Given the description of an element on the screen output the (x, y) to click on. 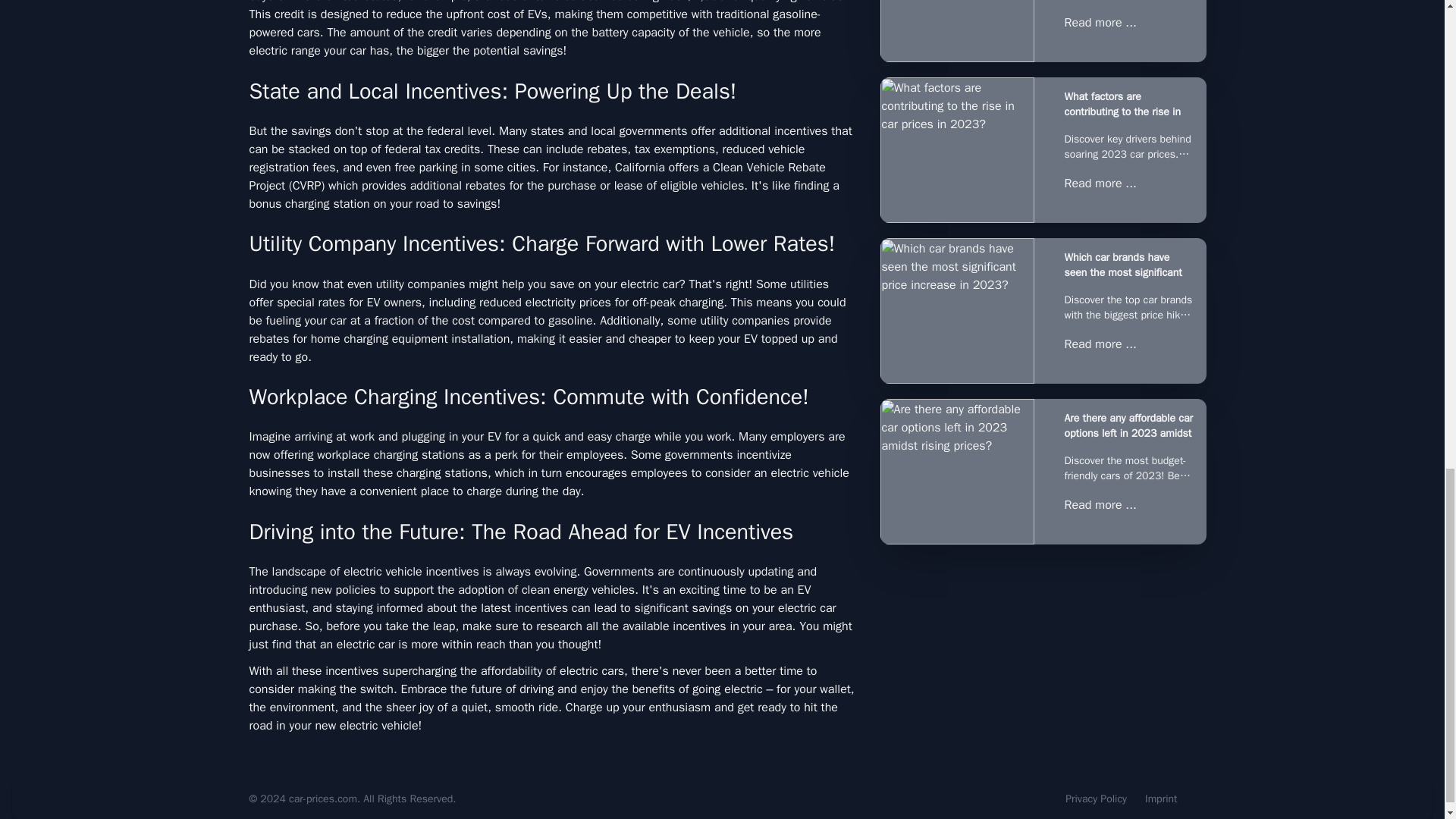
car-prices.com (322, 798)
Privacy Policy (1095, 798)
